Given the description of an element on the screen output the (x, y) to click on. 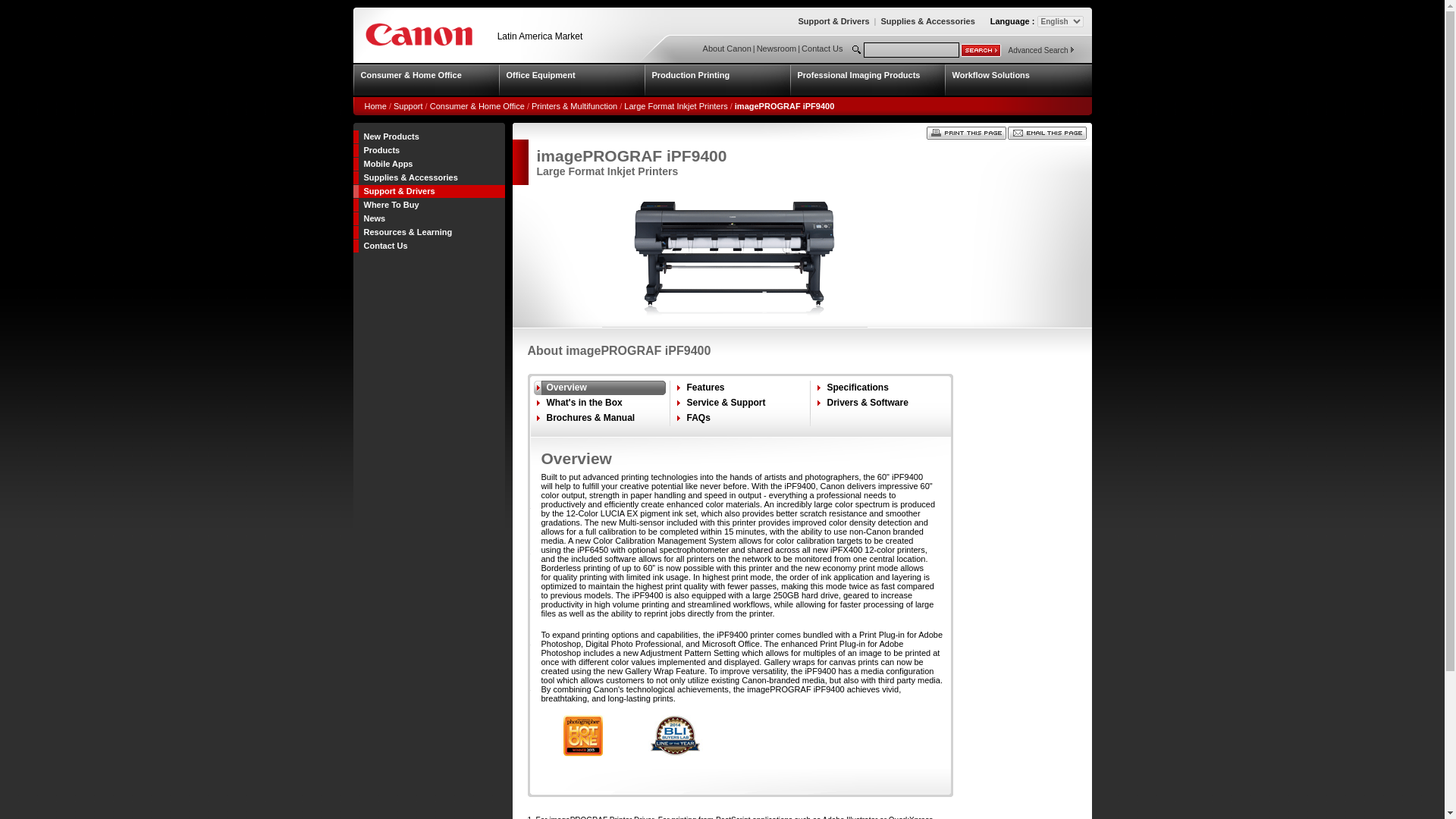
Workflow Solutions (1018, 80)
Contact Us (821, 48)
Office Equipment (572, 80)
About Canon (726, 48)
About Canon (726, 48)
Production Printing (717, 80)
Newsroom (776, 48)
Professional Imaging Products (867, 80)
Contact Us (821, 48)
Advanced Search (1038, 49)
Newsroom (776, 48)
